Given the description of an element on the screen output the (x, y) to click on. 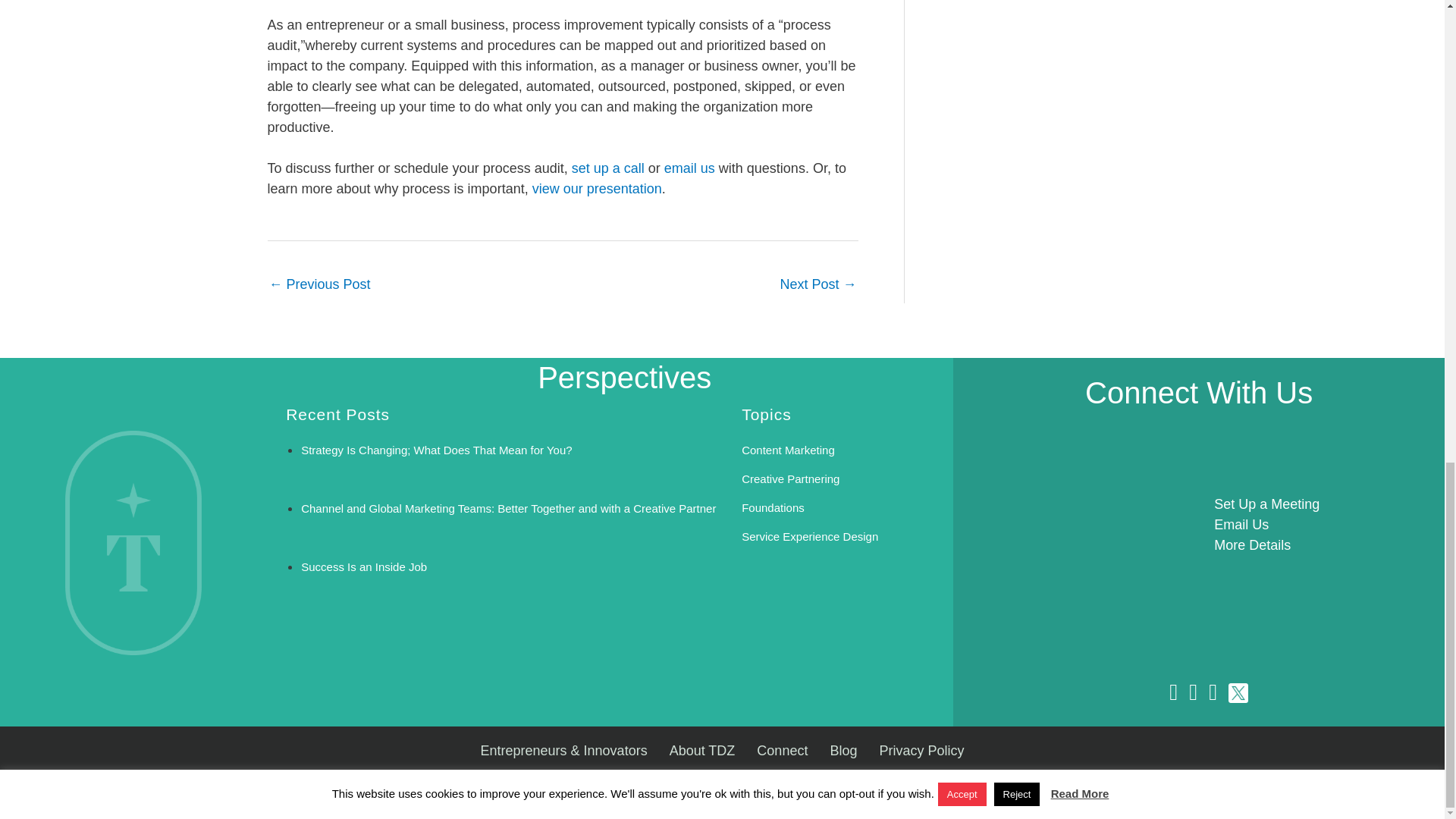
Strategy Is Changing; What Does That Mean for You? (436, 449)
email us (691, 168)
Success Is an Inside Job (363, 566)
view our presentation (597, 188)
set up a call (608, 168)
Our Position on Collaborating with Agencies (318, 286)
Why Hire a Strategic Marketing Consultant? (817, 286)
